Given the description of an element on the screen output the (x, y) to click on. 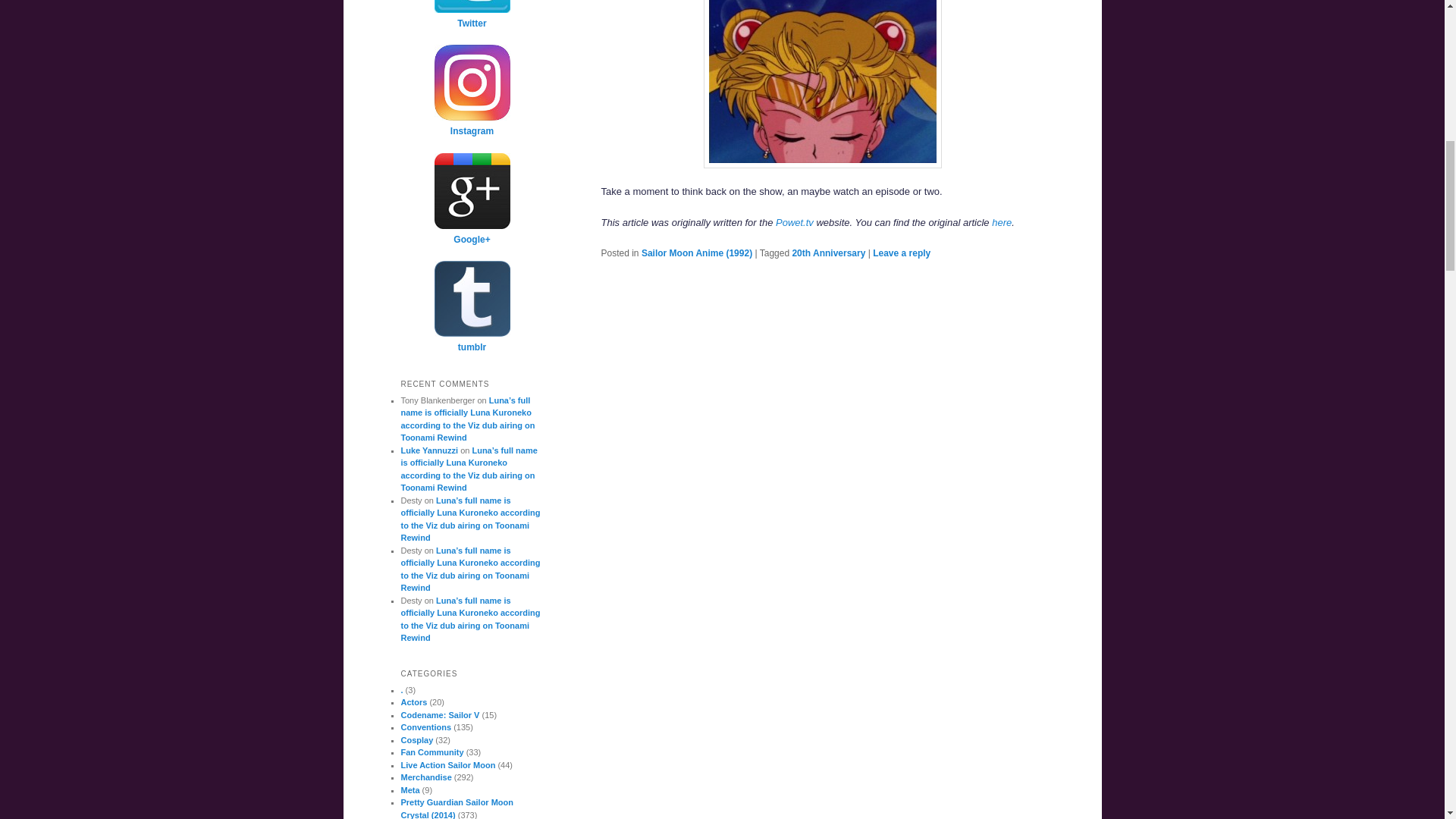
Powet.tv (794, 222)
Leave a reply (901, 253)
Comment on The Sailor Moon Anime turns 20 today (901, 253)
The Sailor Moon Anime Turns 20 Today (1001, 222)
Instagram (471, 124)
Sailor  Moon transforming (822, 84)
Codename: Sailor V (439, 714)
Powet.tv (794, 222)
Actors (413, 701)
Twitter (471, 16)
